Given the description of an element on the screen output the (x, y) to click on. 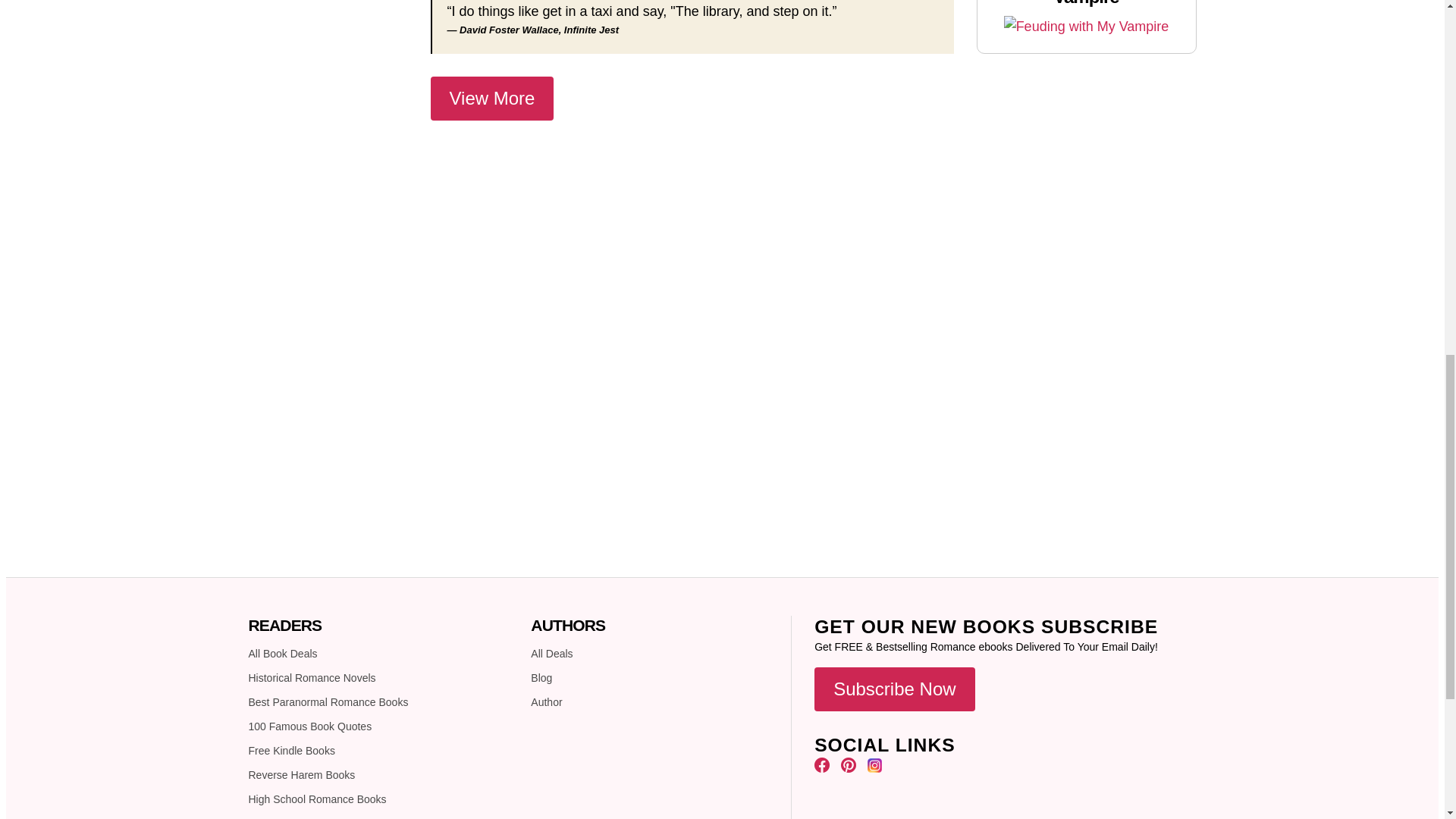
Feuding with My Vampire (1086, 26)
